Given the description of an element on the screen output the (x, y) to click on. 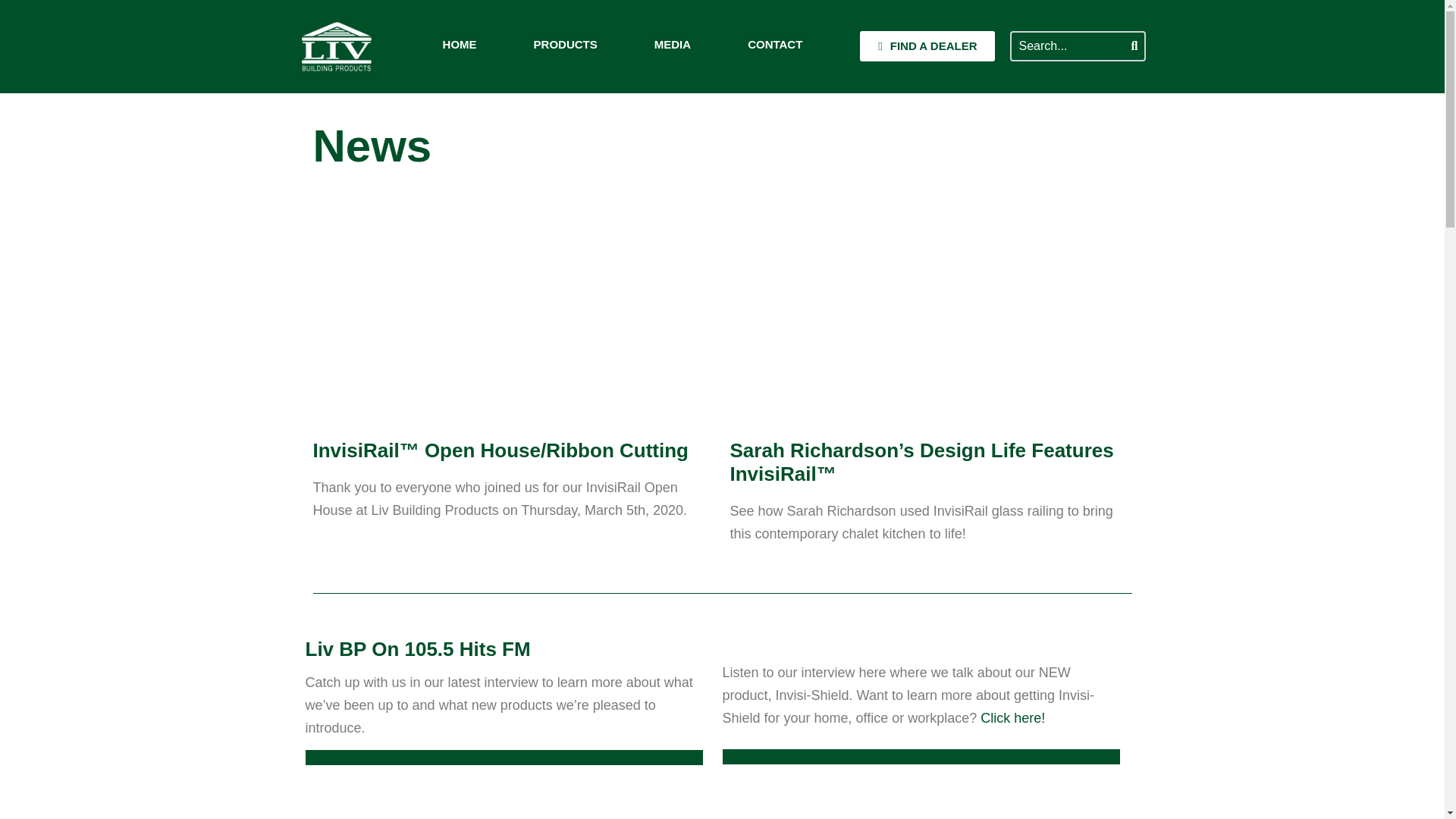
FIND A DEALER (927, 46)
PRODUCTS (565, 46)
